Given the description of an element on the screen output the (x, y) to click on. 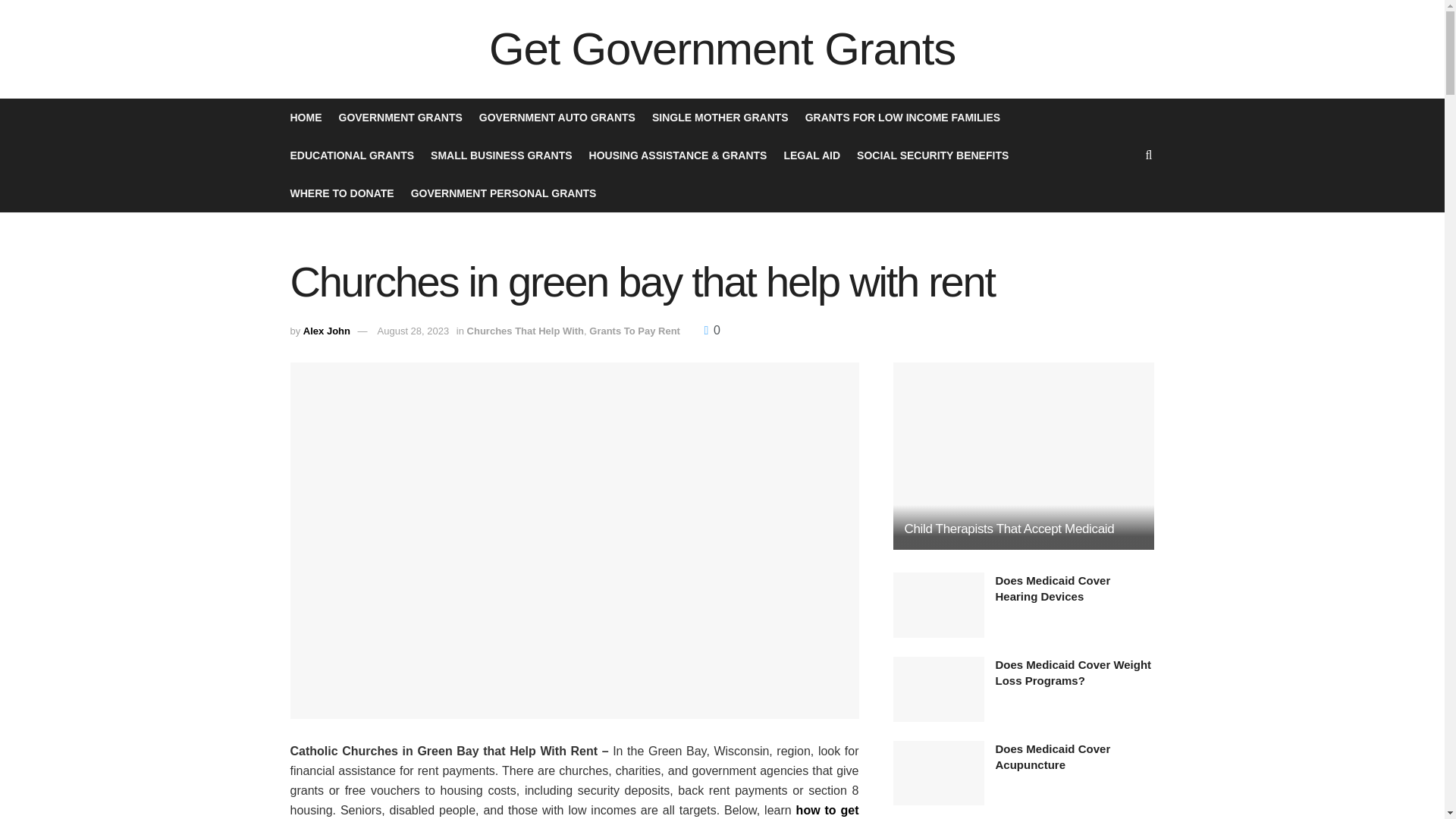
GOVERNMENT GRANTS (399, 117)
GRANTS FOR LOW INCOME FAMILIES (902, 117)
Alex John (326, 330)
HOME (305, 117)
WHERE TO DONATE (341, 192)
EDUCATIONAL GRANTS (351, 155)
Grants To Pay Rent (634, 330)
SINGLE MOTHER GRANTS (720, 117)
GOVERNMENT PERSONAL GRANTS (503, 192)
Churches That Help With (525, 330)
